Given the description of an element on the screen output the (x, y) to click on. 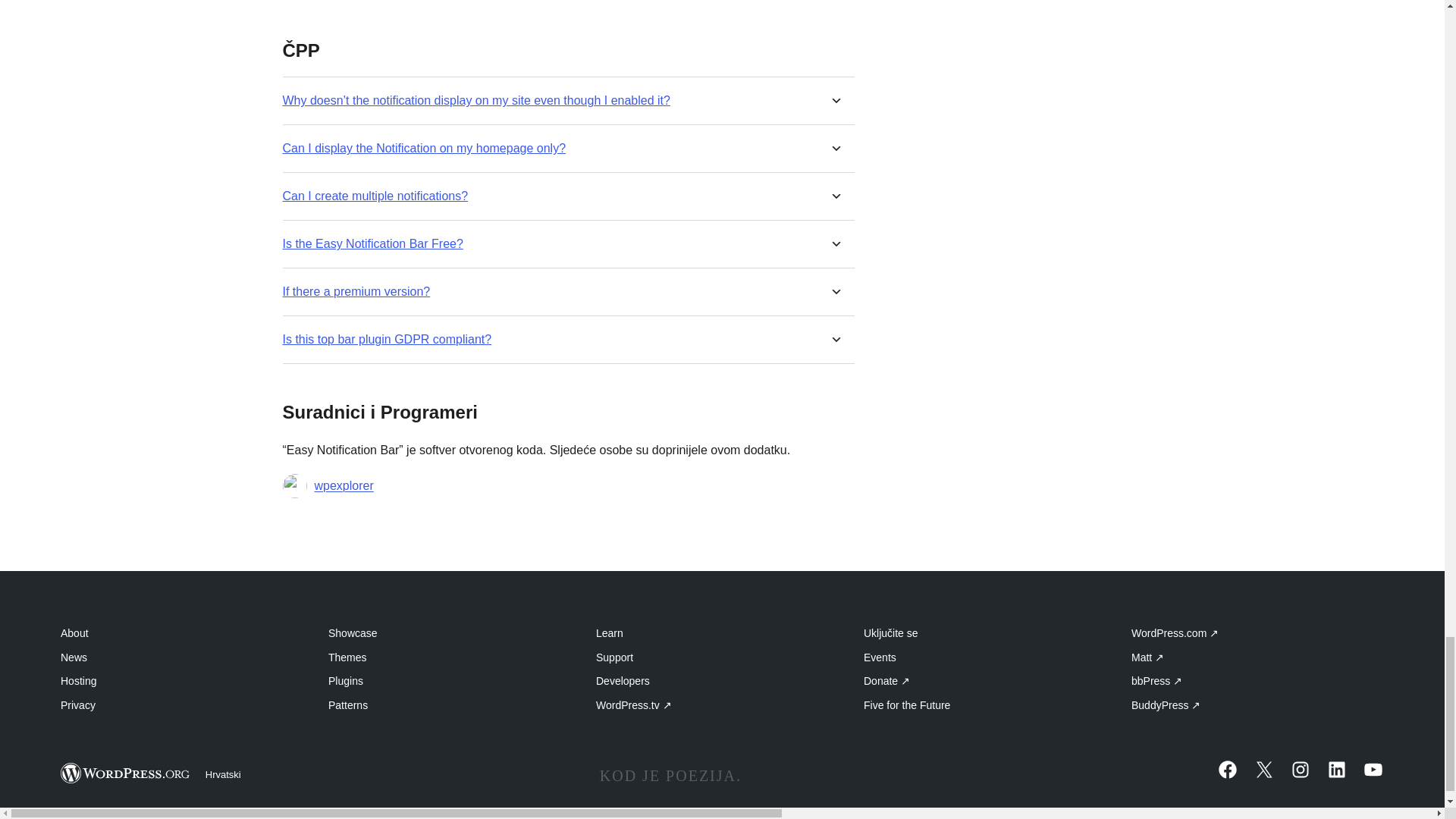
WordPress.org (125, 772)
